Given the description of an element on the screen output the (x, y) to click on. 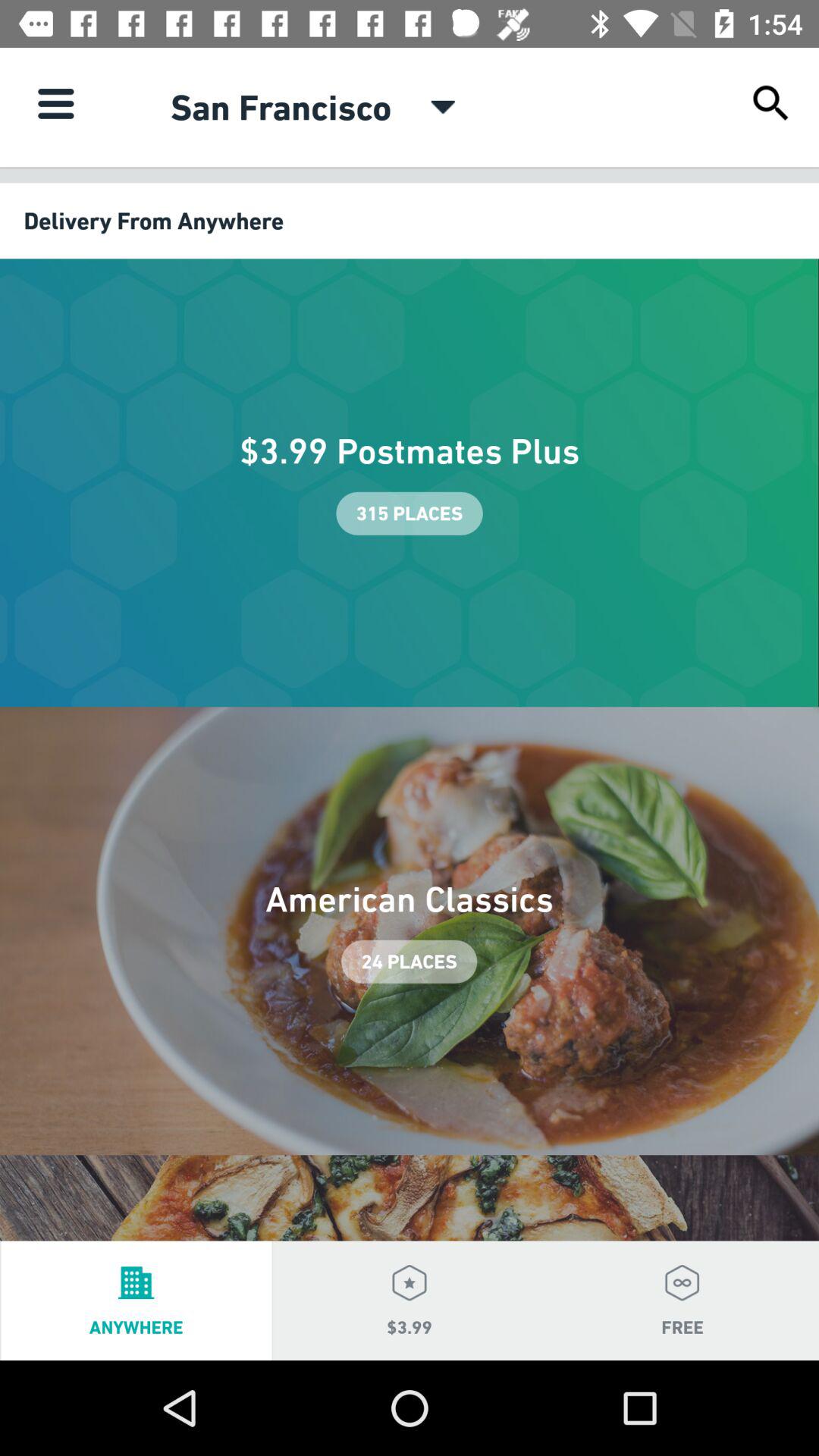
open the san francisco (280, 107)
